Given the description of an element on the screen output the (x, y) to click on. 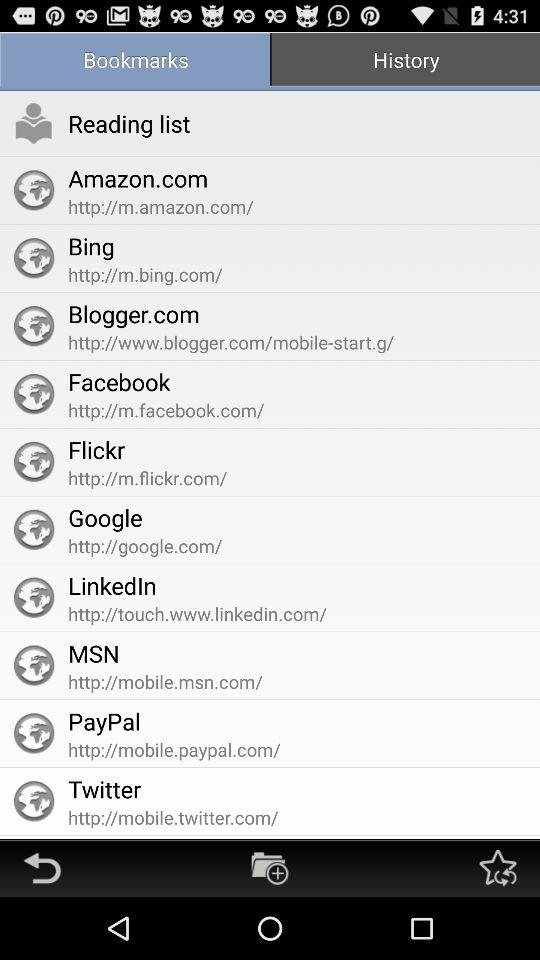
turn on item next to the bookmarks (405, 61)
